Given the description of an element on the screen output the (x, y) to click on. 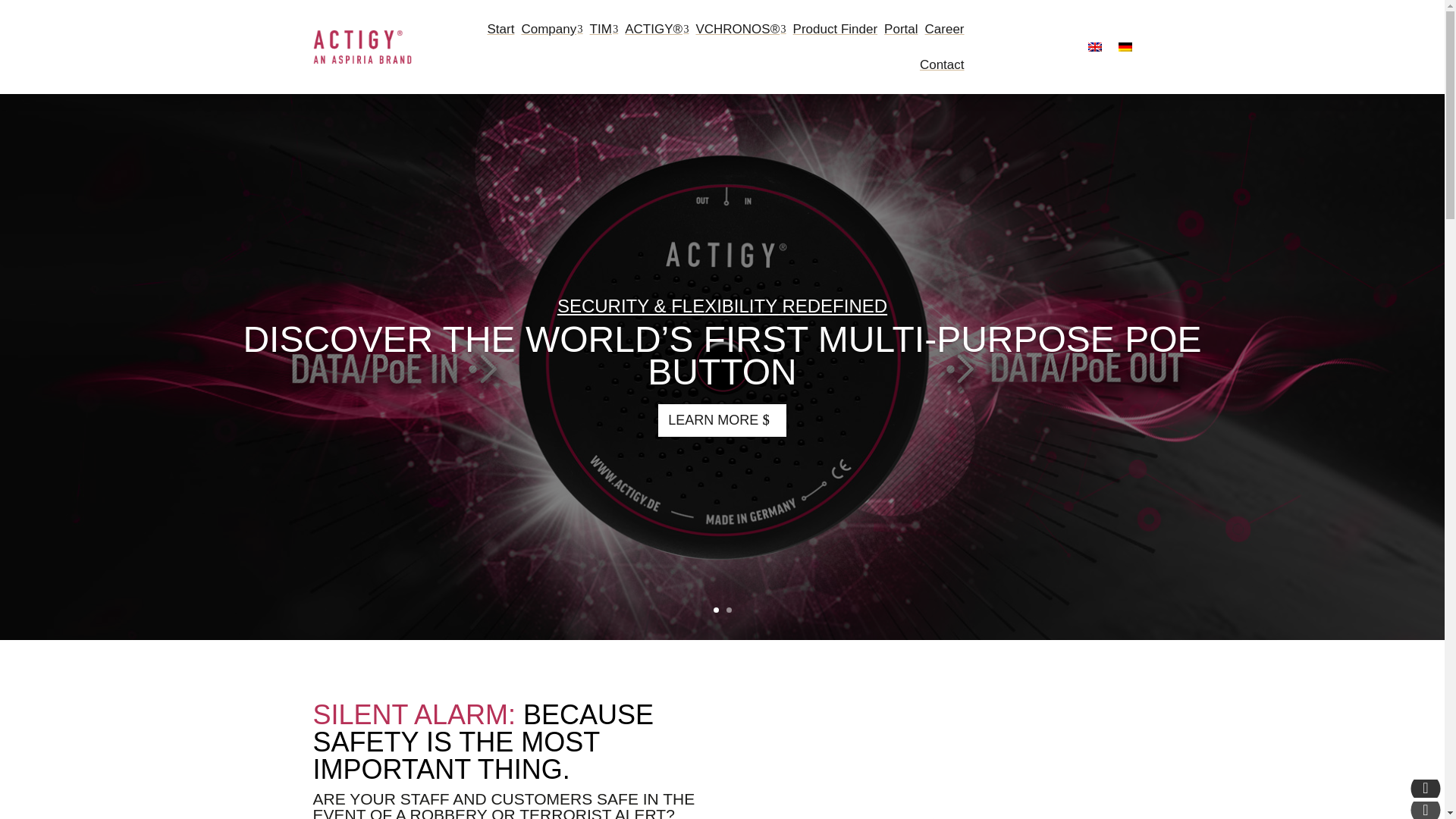
ACTIGY-LOGO (361, 46)
